Given the description of an element on the screen output the (x, y) to click on. 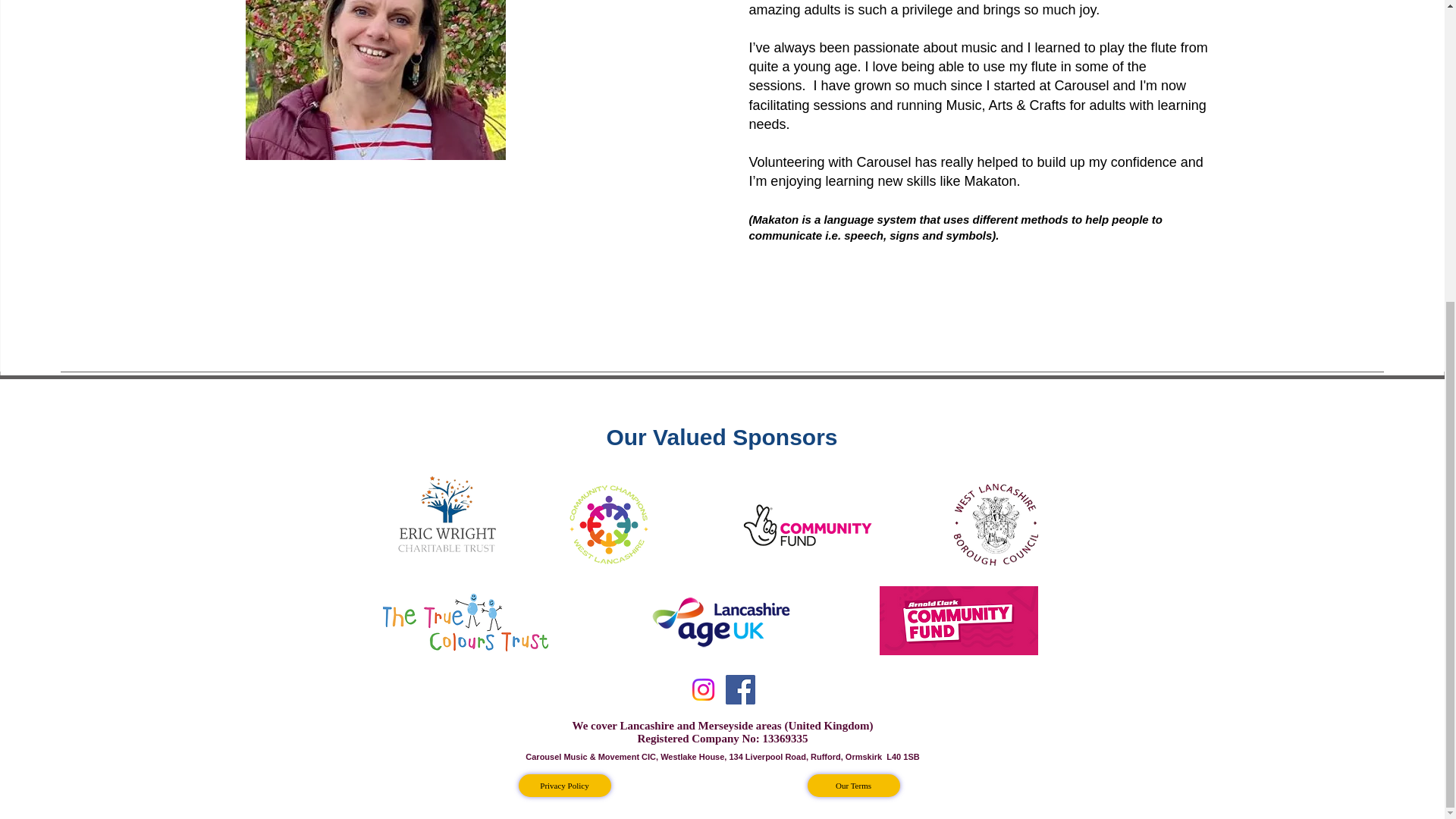
Privacy Policy (564, 784)
Our Terms (852, 784)
True Colours.png (464, 623)
